Given the description of an element on the screen output the (x, y) to click on. 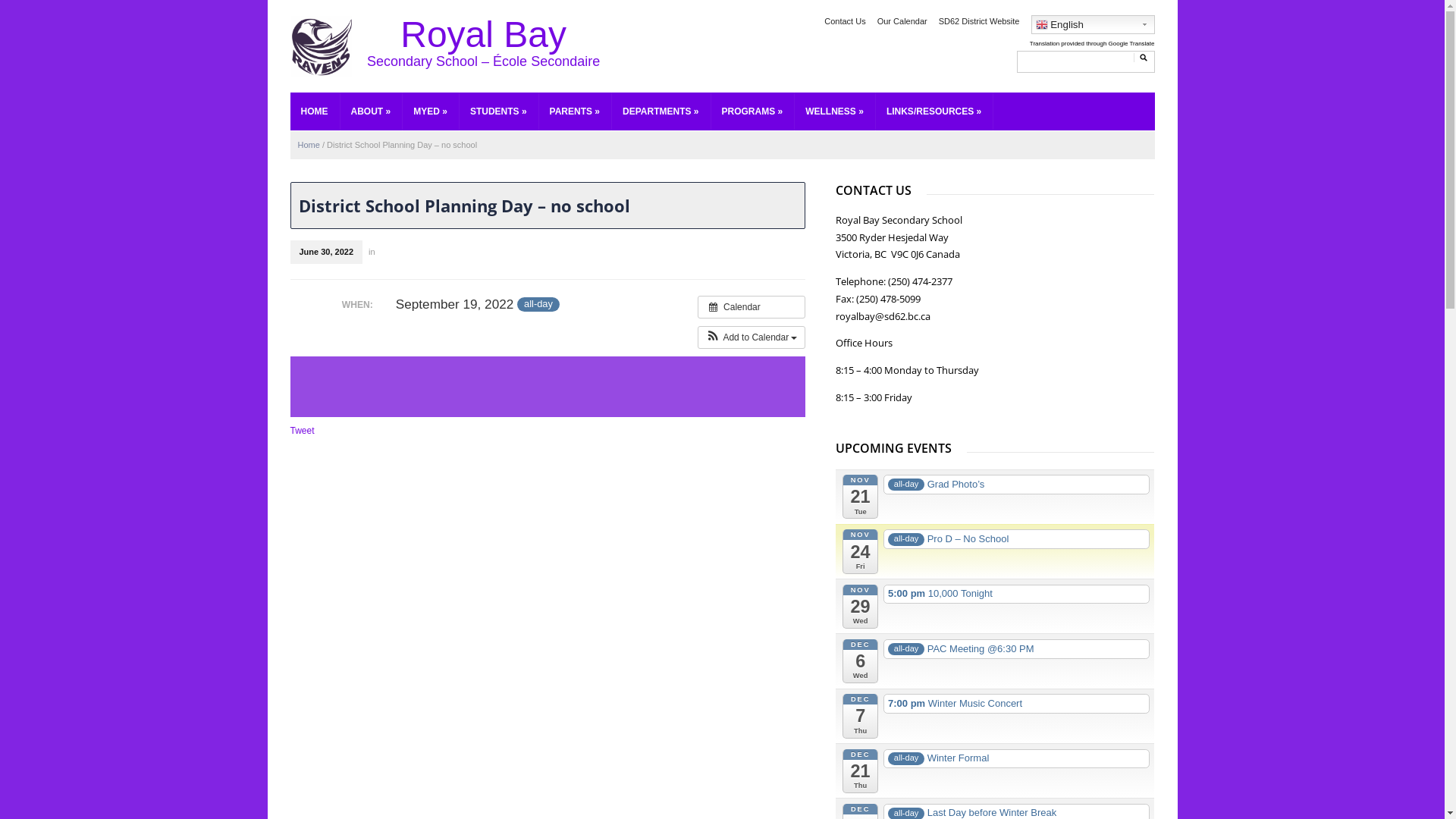
HOME Element type: text (313, 111)
Tweet Element type: text (301, 430)
Home Element type: text (308, 144)
5:00 pm 10,000 Tonight Element type: text (1016, 594)
SD62 District Website Element type: text (978, 20)
NOV
21
Tue Element type: text (860, 496)
7:00 pm Winter Music Concert Element type: text (1016, 703)
all-day Winter Formal Element type: text (1016, 758)
DEC
21
Thu Element type: text (860, 771)
Our Calendar Element type: text (902, 20)
NOV
24
Fri Element type: text (860, 551)
all-day PAC Meeting @6:30 PM Element type: text (1016, 648)
DEC
6
Wed Element type: text (860, 661)
DEC
7
Thu Element type: text (860, 715)
Contact Us Element type: text (844, 20)
English Element type: text (1092, 24)
NOV
29
Wed Element type: text (860, 606)
Calendar Element type: text (751, 306)
